Given the description of an element on the screen output the (x, y) to click on. 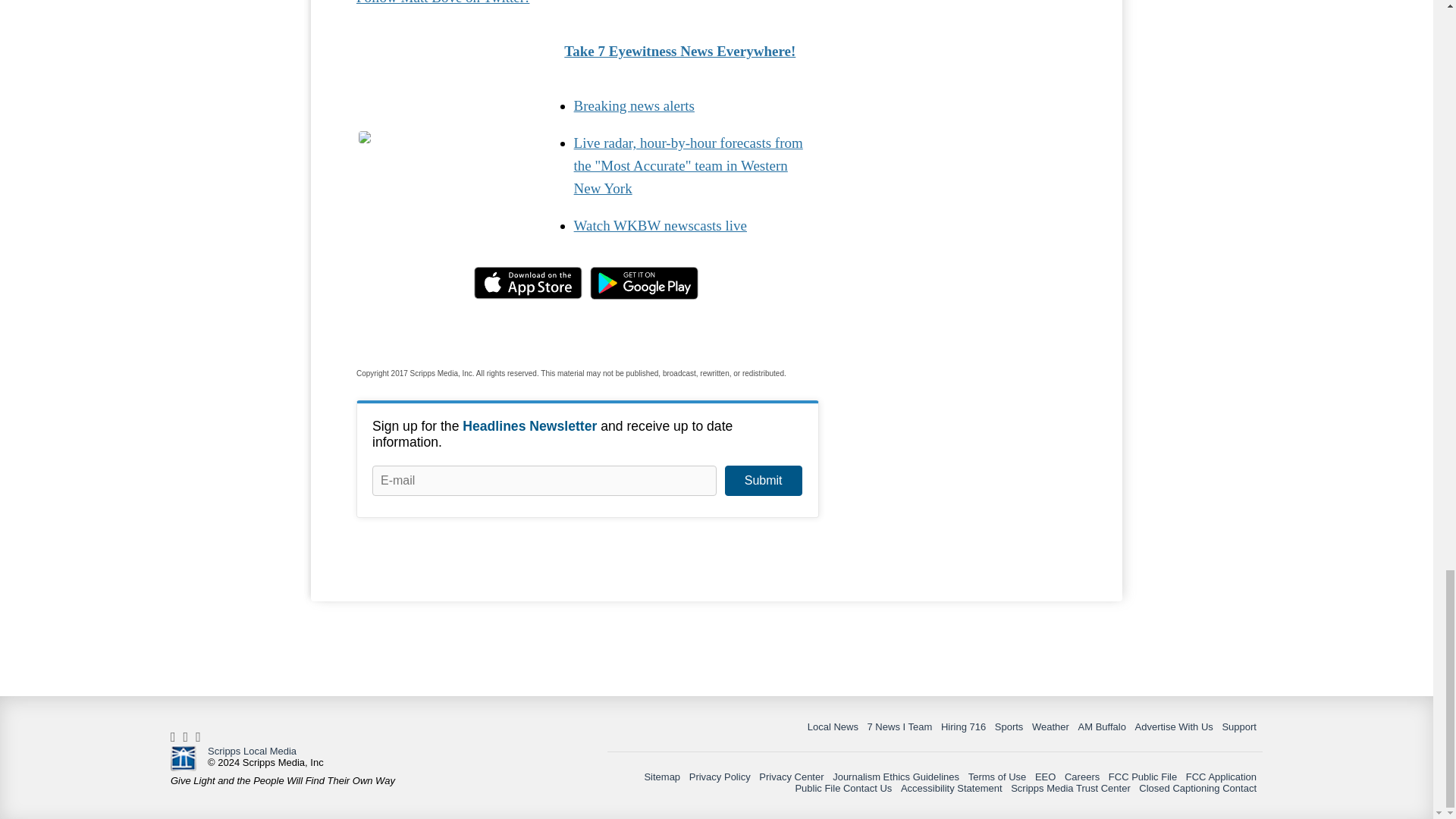
Submit (763, 481)
